Given the description of an element on the screen output the (x, y) to click on. 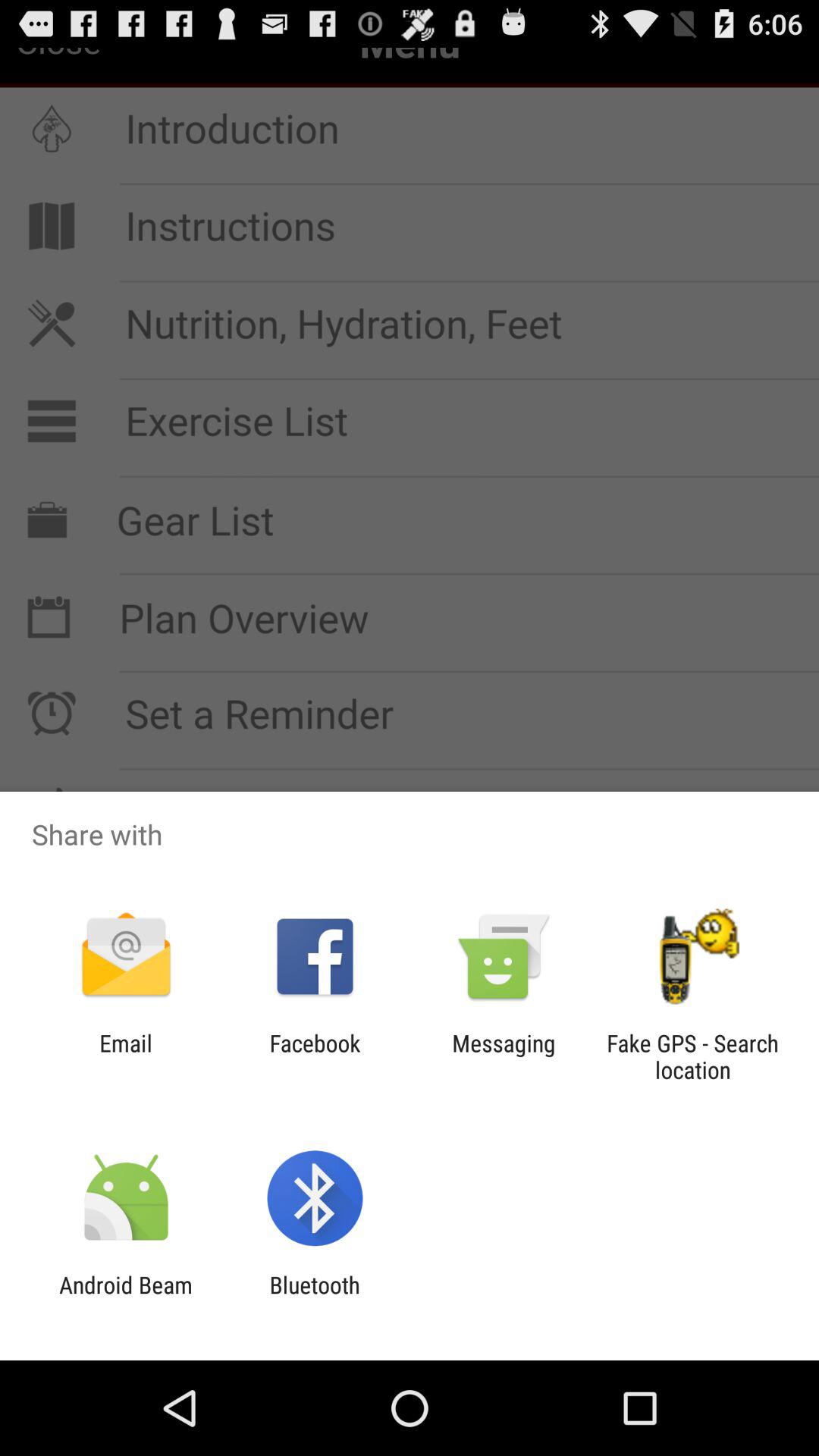
jump until the android beam icon (125, 1298)
